Given the description of an element on the screen output the (x, y) to click on. 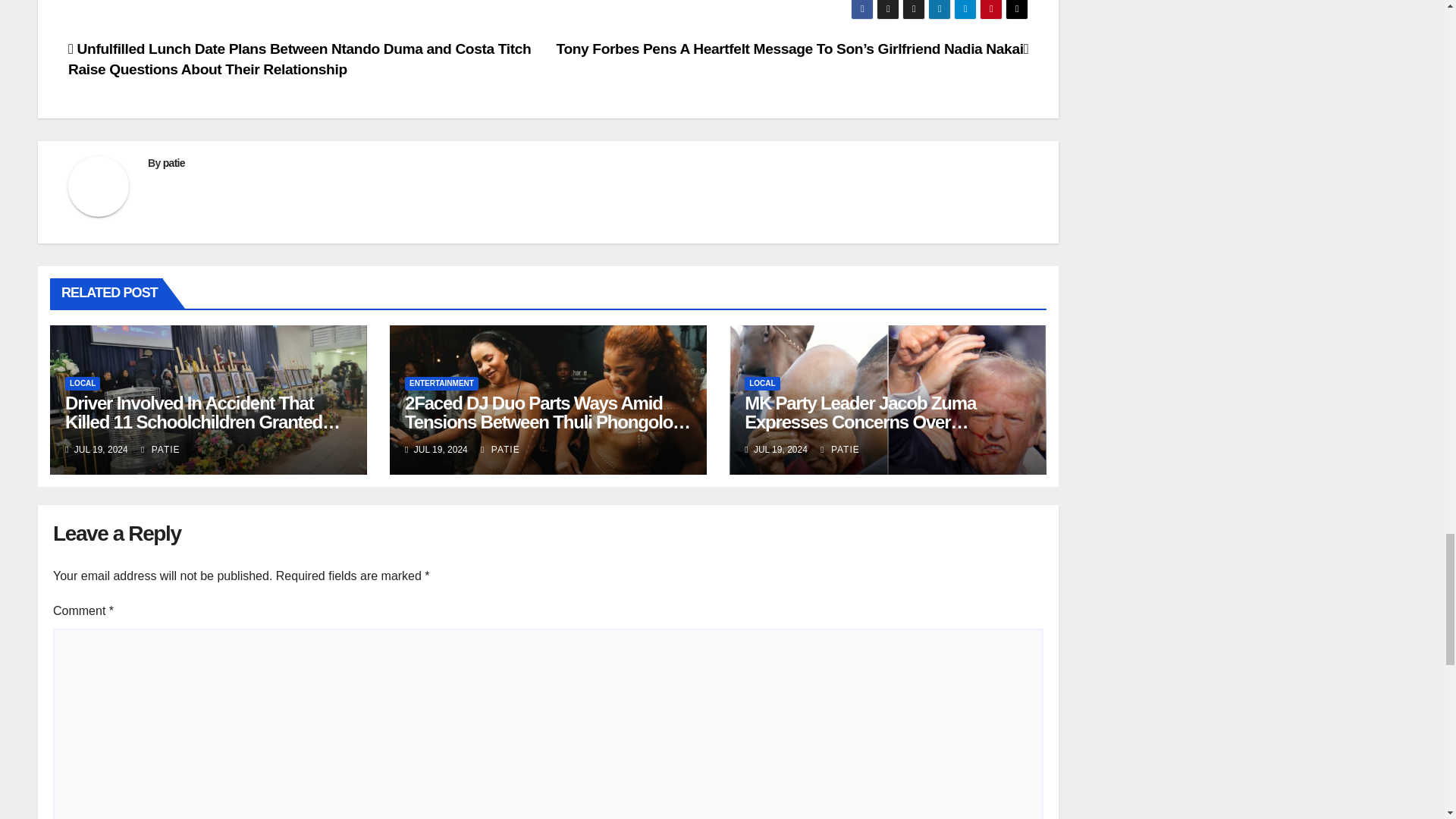
patie (173, 162)
PATIE (160, 449)
LOCAL (82, 383)
